Given the description of an element on the screen output the (x, y) to click on. 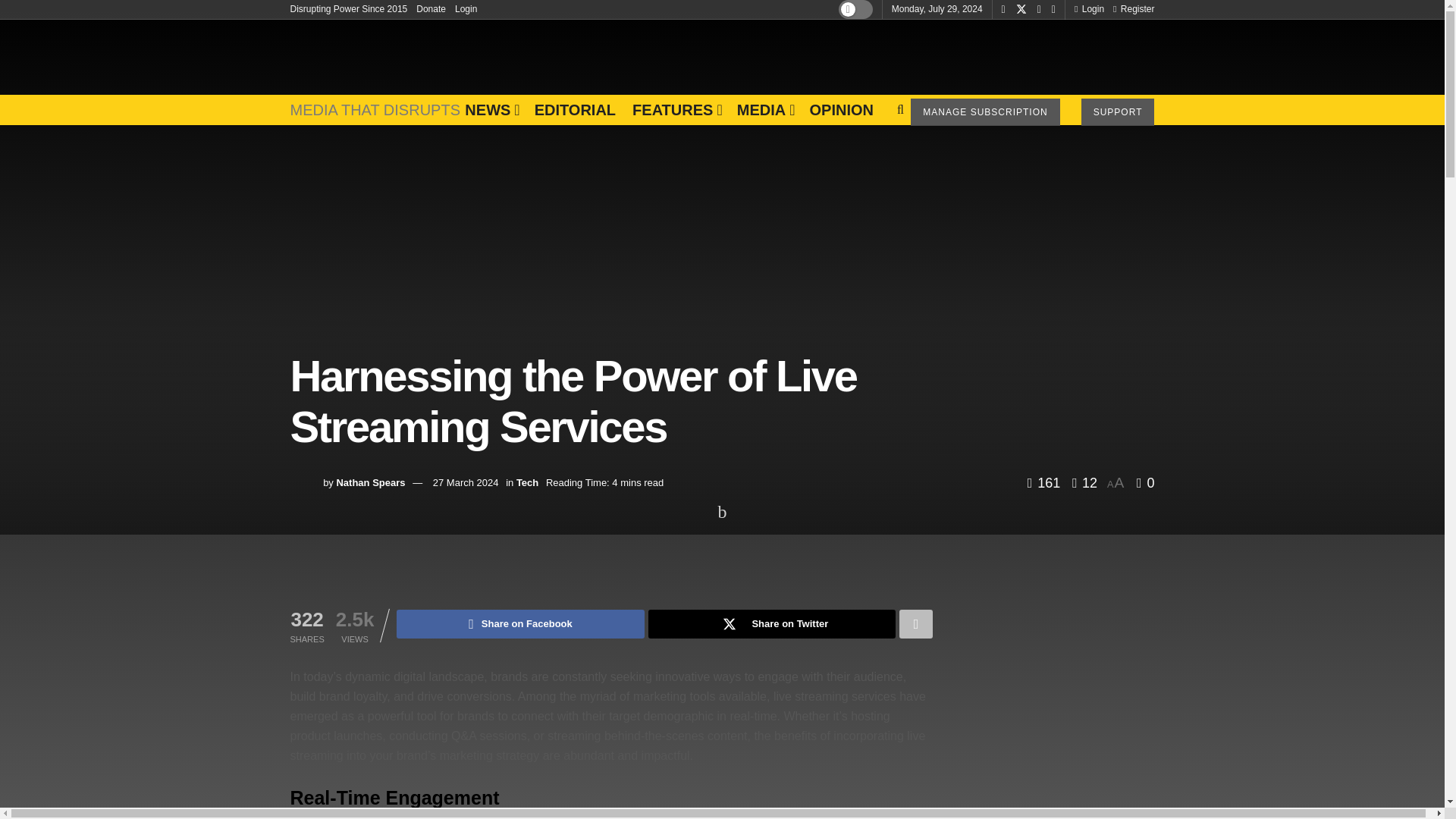
OPINION (840, 110)
Login (1088, 9)
MEDIA (764, 110)
Disrupting Power Since 2015 (348, 9)
MANAGE SUBSCRIPTION (985, 112)
NEWS (490, 110)
Register (1133, 9)
FEATURES (675, 110)
EDITORIAL (574, 110)
Login (465, 9)
SUPPORT (1117, 112)
Donate (430, 9)
